Given the description of an element on the screen output the (x, y) to click on. 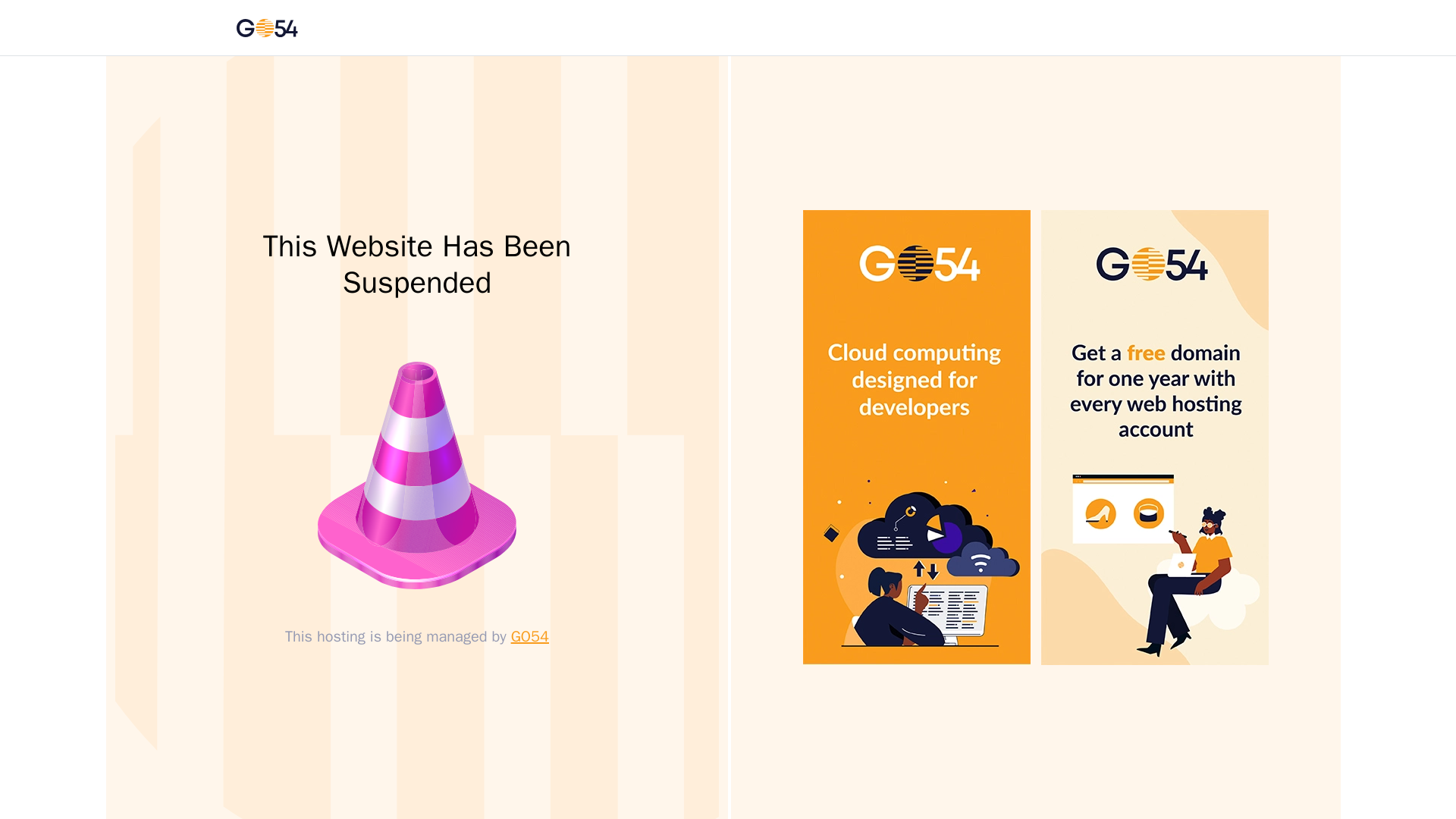
GO54 (529, 636)
